Given the description of an element on the screen output the (x, y) to click on. 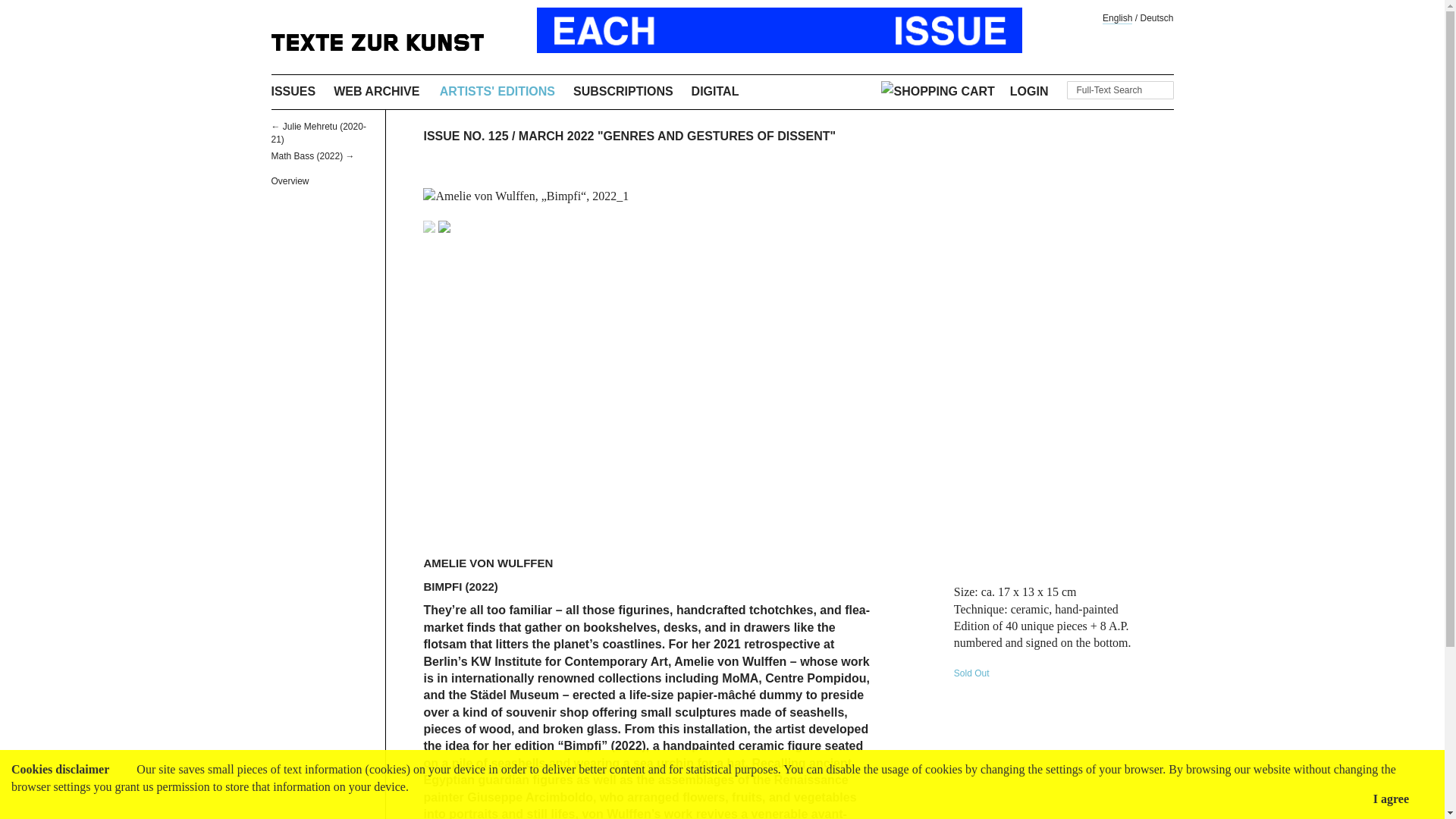
Overview (323, 181)
Shopping cart (937, 92)
TEXTE ZUR KUNST (376, 42)
LOGIN (1029, 91)
DIGITAL (715, 91)
Full-Text Search (1119, 90)
Deutsch (1156, 18)
SUBSCRIPTIONS (622, 91)
I agree (1391, 799)
ARTISTS' EDITIONS (496, 91)
